Given the description of an element on the screen output the (x, y) to click on. 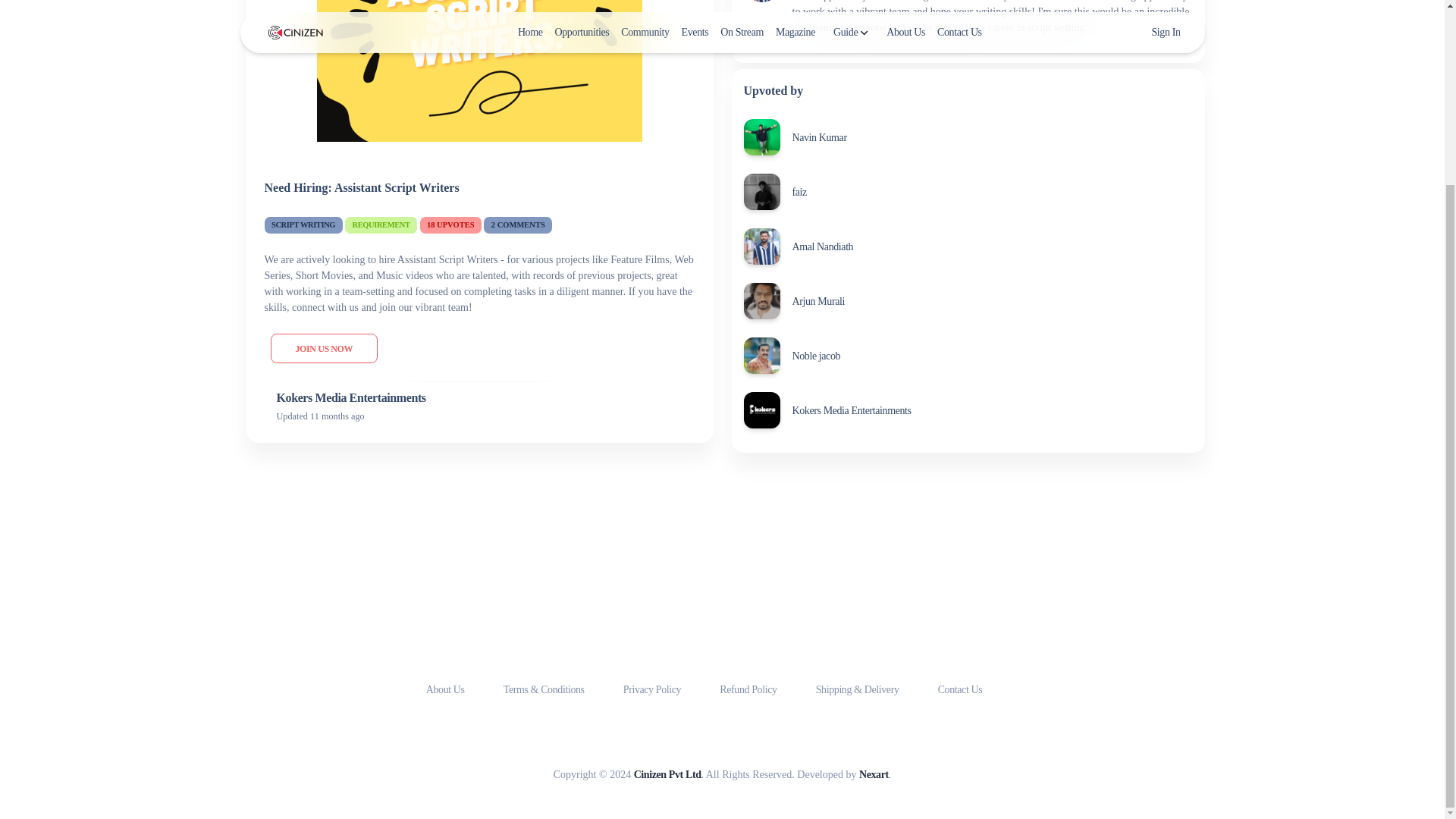
Noble jacob (816, 355)
faiz (799, 191)
Privacy Policy (653, 689)
SCRIPT WRITING (302, 225)
Refund Policy (748, 689)
About Us (446, 689)
Kokers Media Entertainments (851, 410)
Amal Nandiath (822, 246)
Contact Us (959, 689)
JOIN US NOW (323, 348)
